Given the description of an element on the screen output the (x, y) to click on. 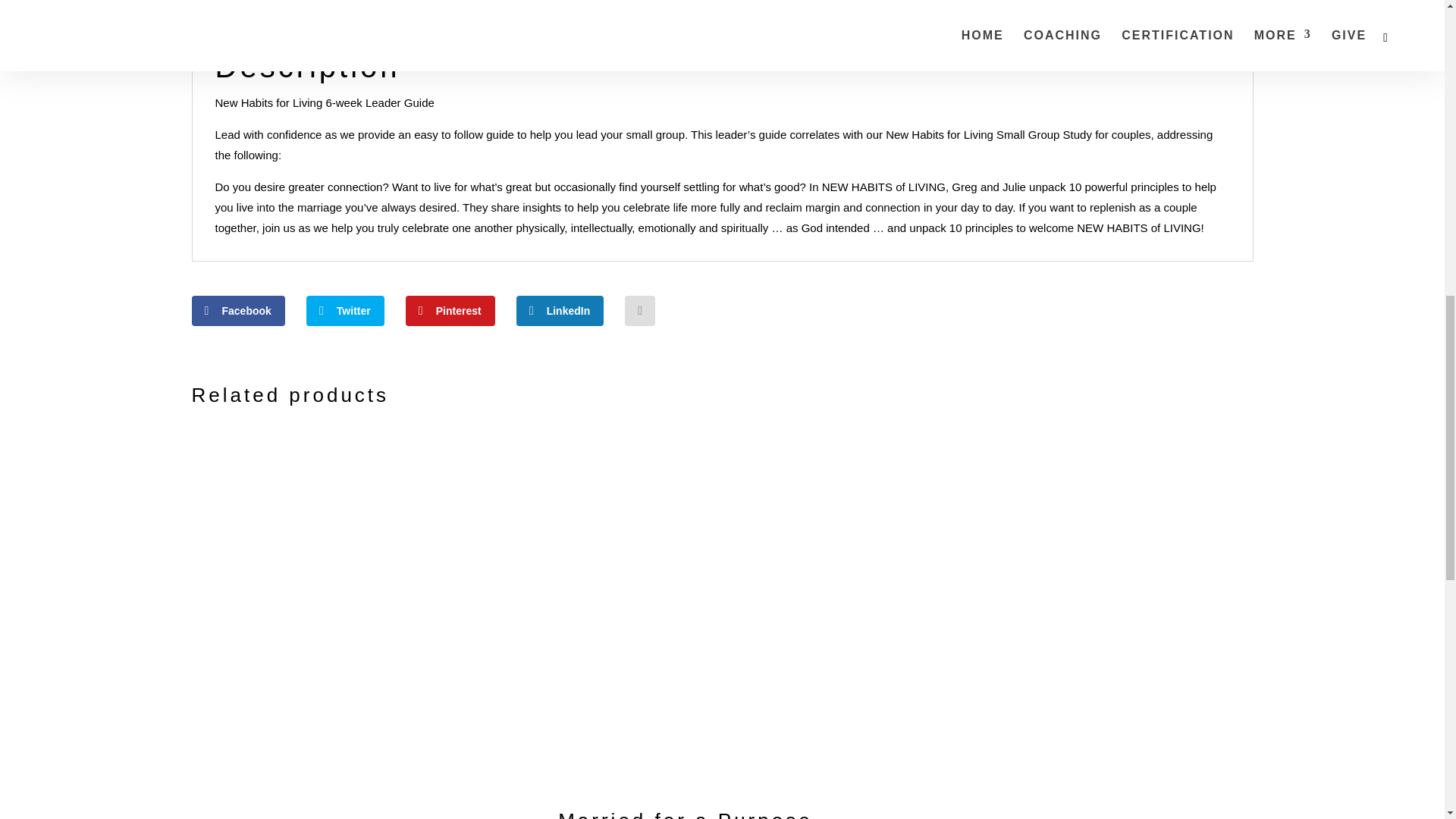
LinkedIn (560, 310)
Description (238, 12)
Pinterest (450, 310)
Twitter (344, 310)
Facebook (236, 310)
